Given the description of an element on the screen output the (x, y) to click on. 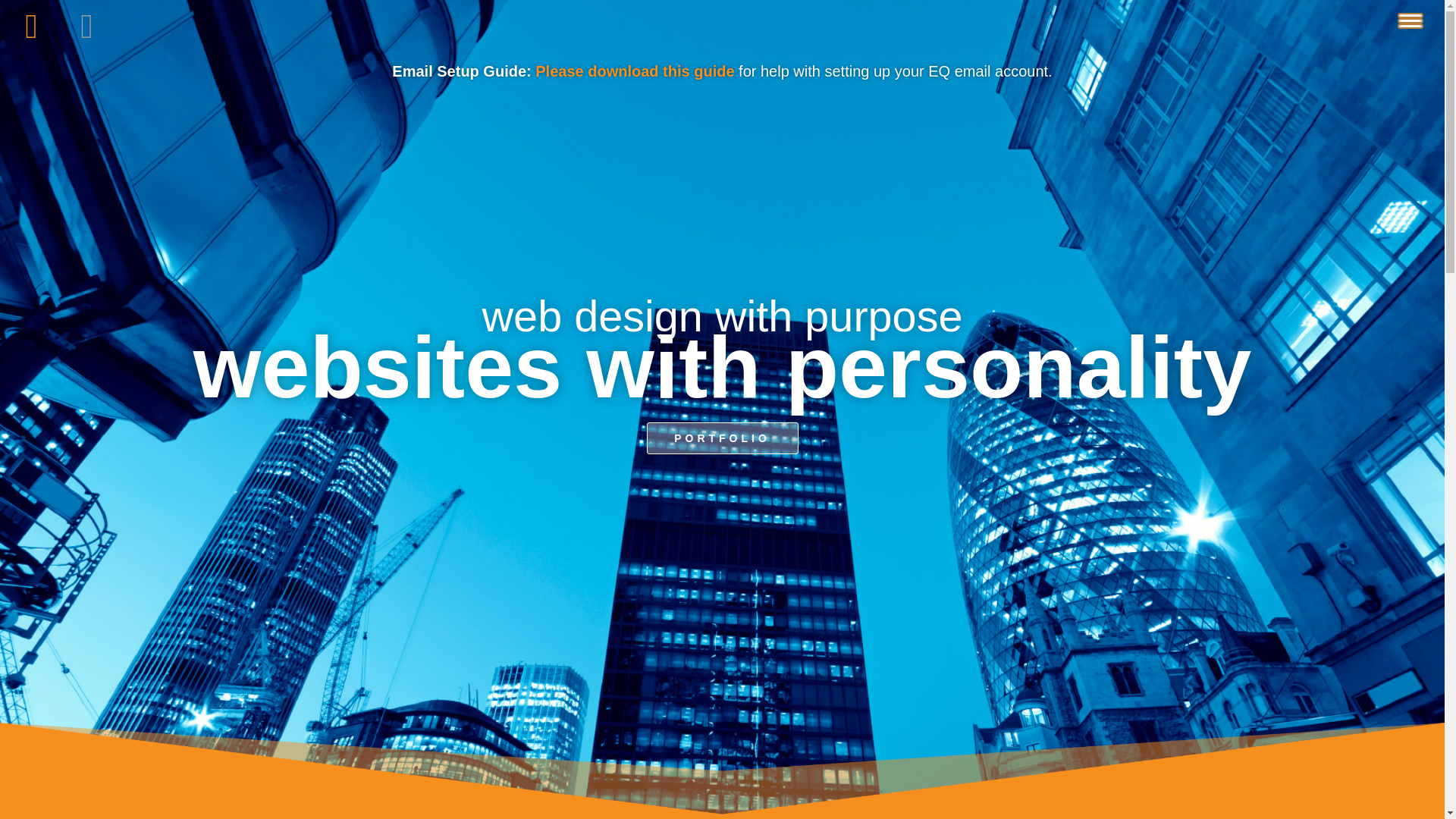
Please download this guide (634, 71)
PORTFOLIO (721, 438)
